Given the description of an element on the screen output the (x, y) to click on. 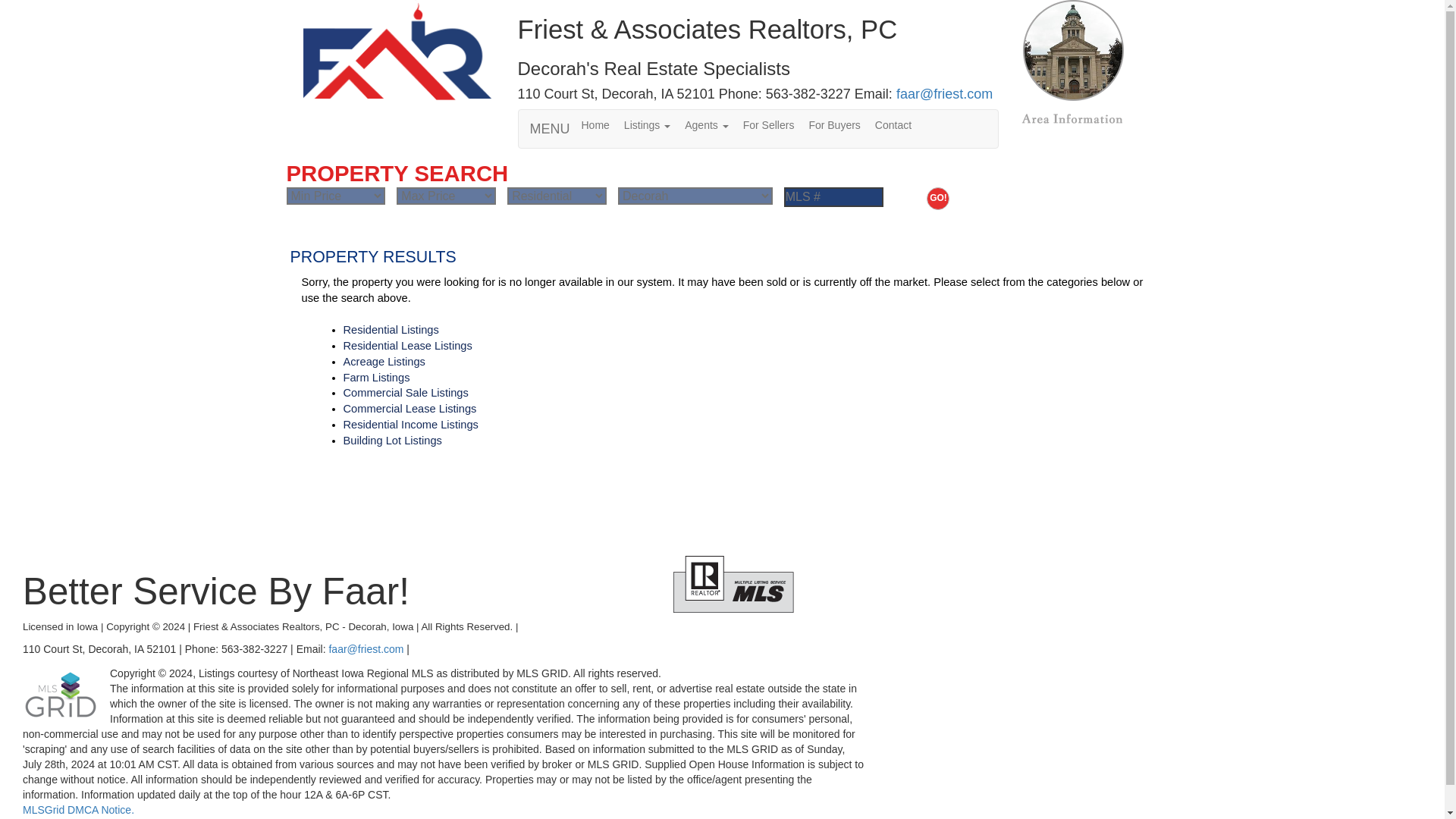
Friest and Associates Realtors, PC (397, 50)
Residential Lease Listings (406, 345)
Contact (900, 124)
Contact (900, 124)
Commercial Sale Listings (404, 392)
Home (601, 124)
Agents (713, 124)
Home (601, 124)
Building Lot Listings (391, 440)
Residential Income Listings (409, 424)
Listings (654, 124)
Residential Listings (390, 329)
MENU (549, 128)
Listings (654, 124)
Acreage Listings (383, 361)
